Given the description of an element on the screen output the (x, y) to click on. 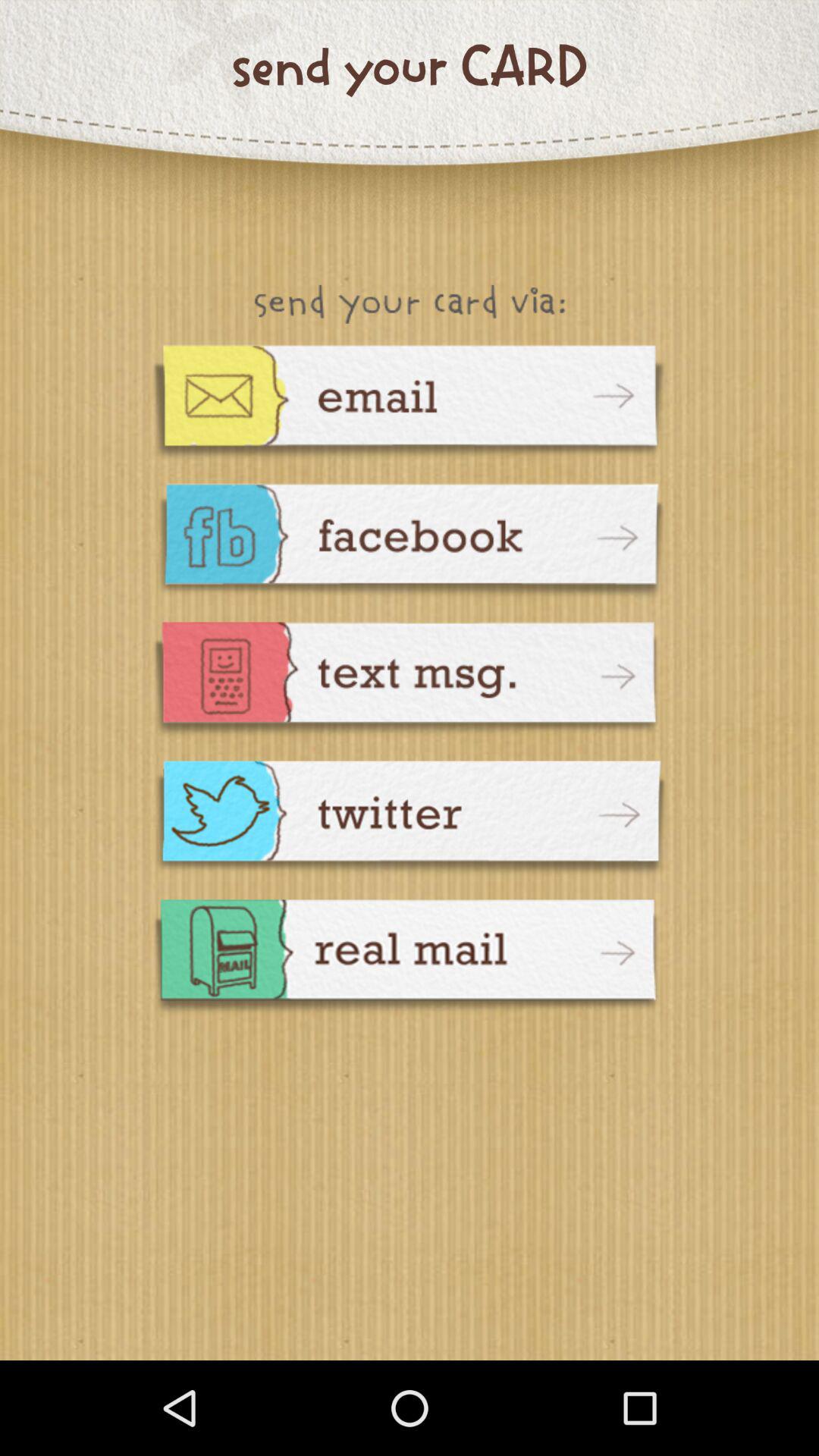
send card via email (409, 403)
